Given the description of an element on the screen output the (x, y) to click on. 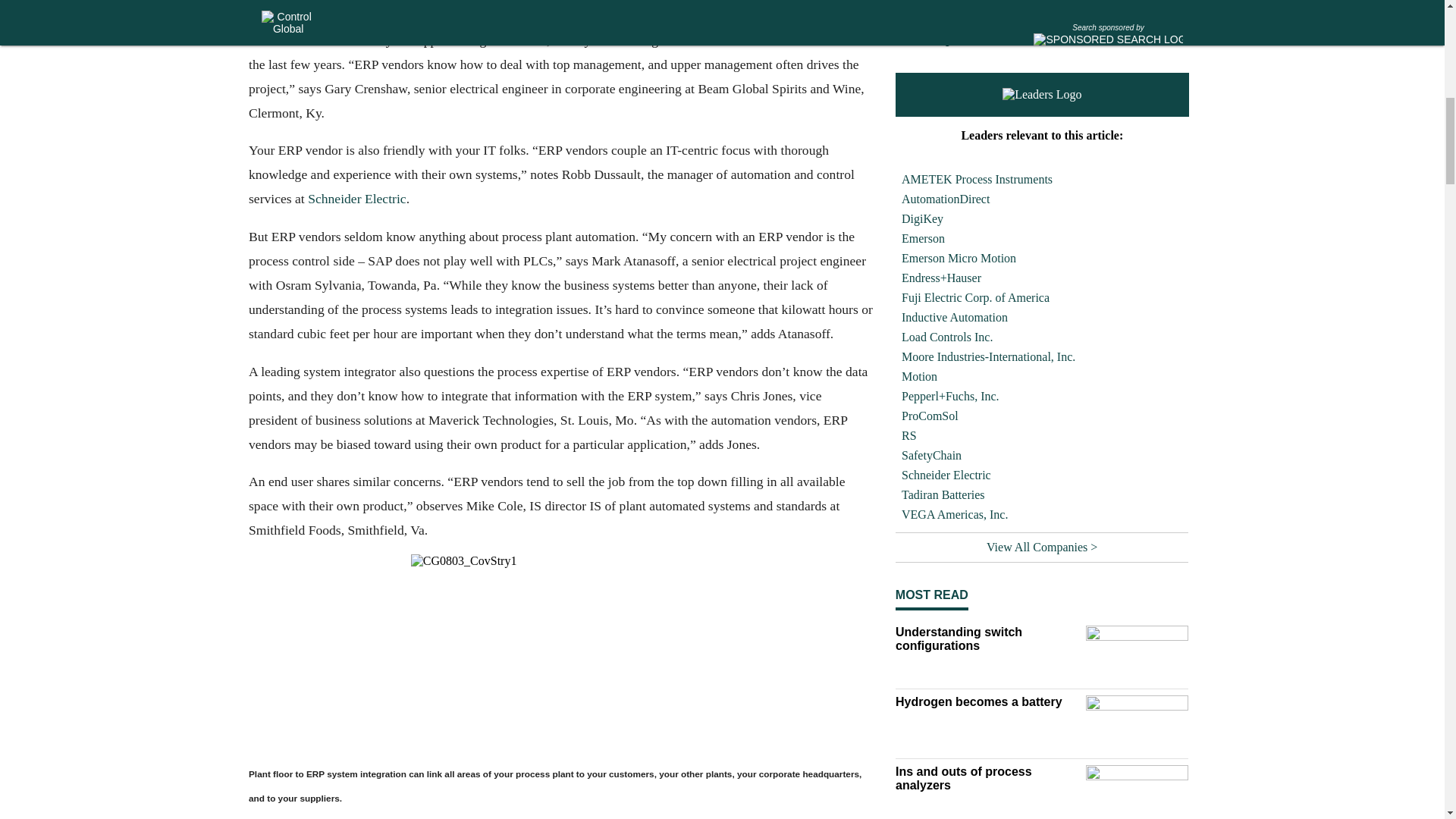
Schneider Electric (356, 199)
